Given the description of an element on the screen output the (x, y) to click on. 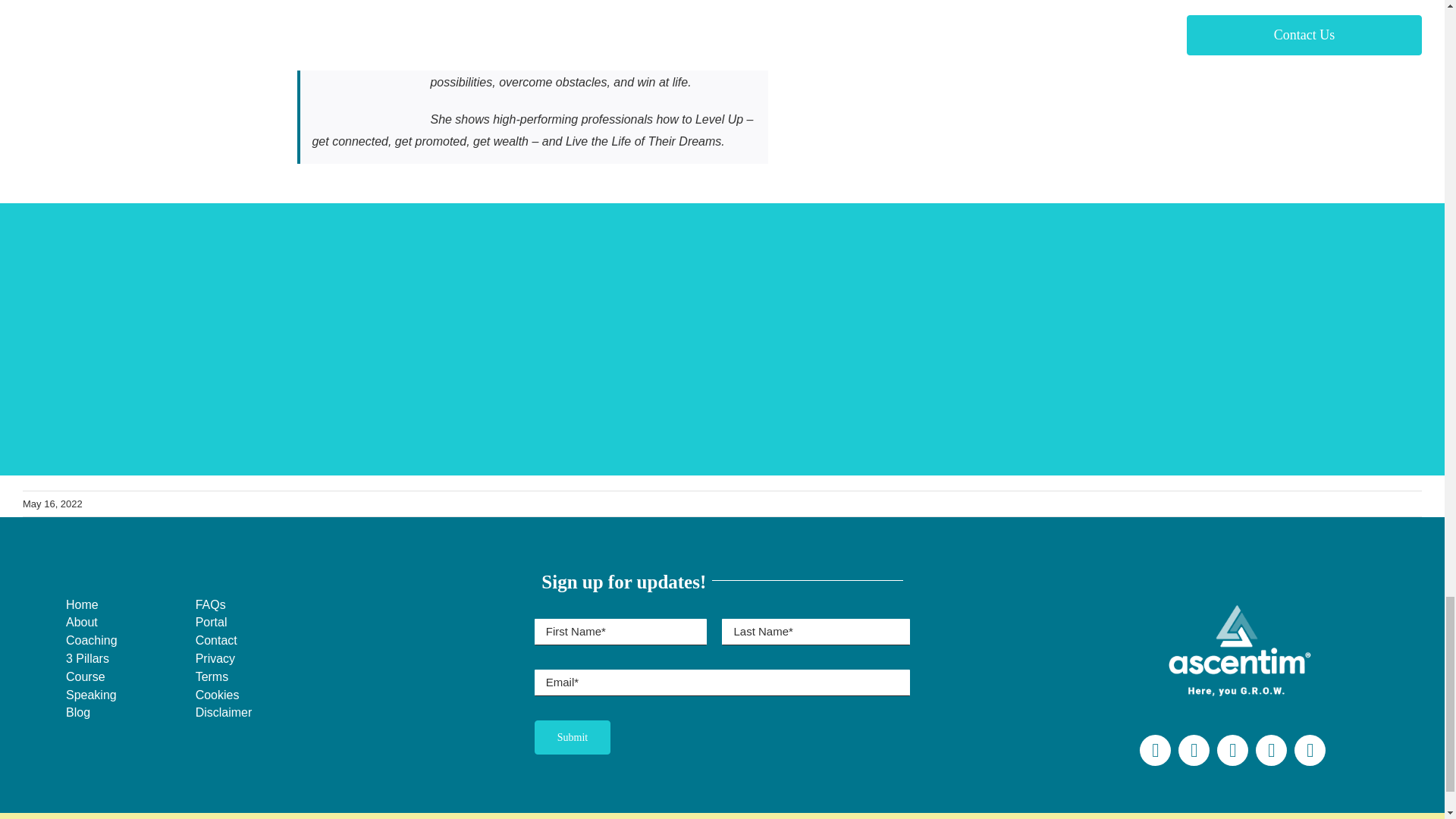
Disclaimer (259, 712)
Home (91, 605)
LinkedIn (1309, 749)
About (91, 622)
YouTube (1271, 749)
FAQs (259, 605)
Cookies (259, 694)
Contact (259, 640)
Instagram (1232, 749)
Twitter (1193, 749)
Blog (91, 712)
Lisa L. Baker (464, 0)
Course (91, 677)
Privacy (259, 659)
Portal (259, 622)
